Given the description of an element on the screen output the (x, y) to click on. 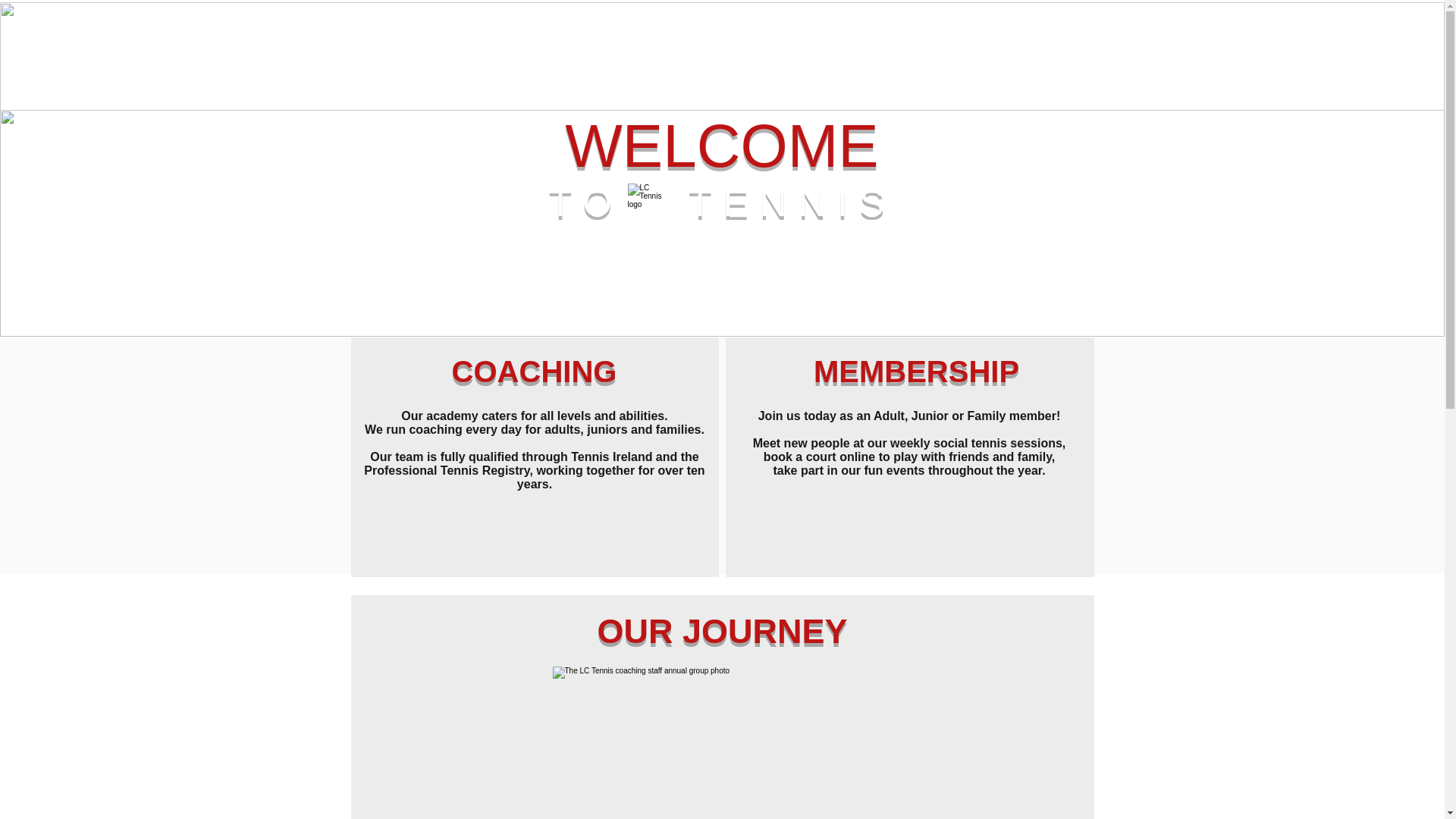
Camps (715, 66)
MEMBERSHIP (916, 371)
Coaching (647, 23)
Join Today (583, 66)
COACHING (534, 371)
Get in touch! (853, 66)
Membership (791, 23)
Home (523, 23)
Store (924, 23)
